Given the description of an element on the screen output the (x, y) to click on. 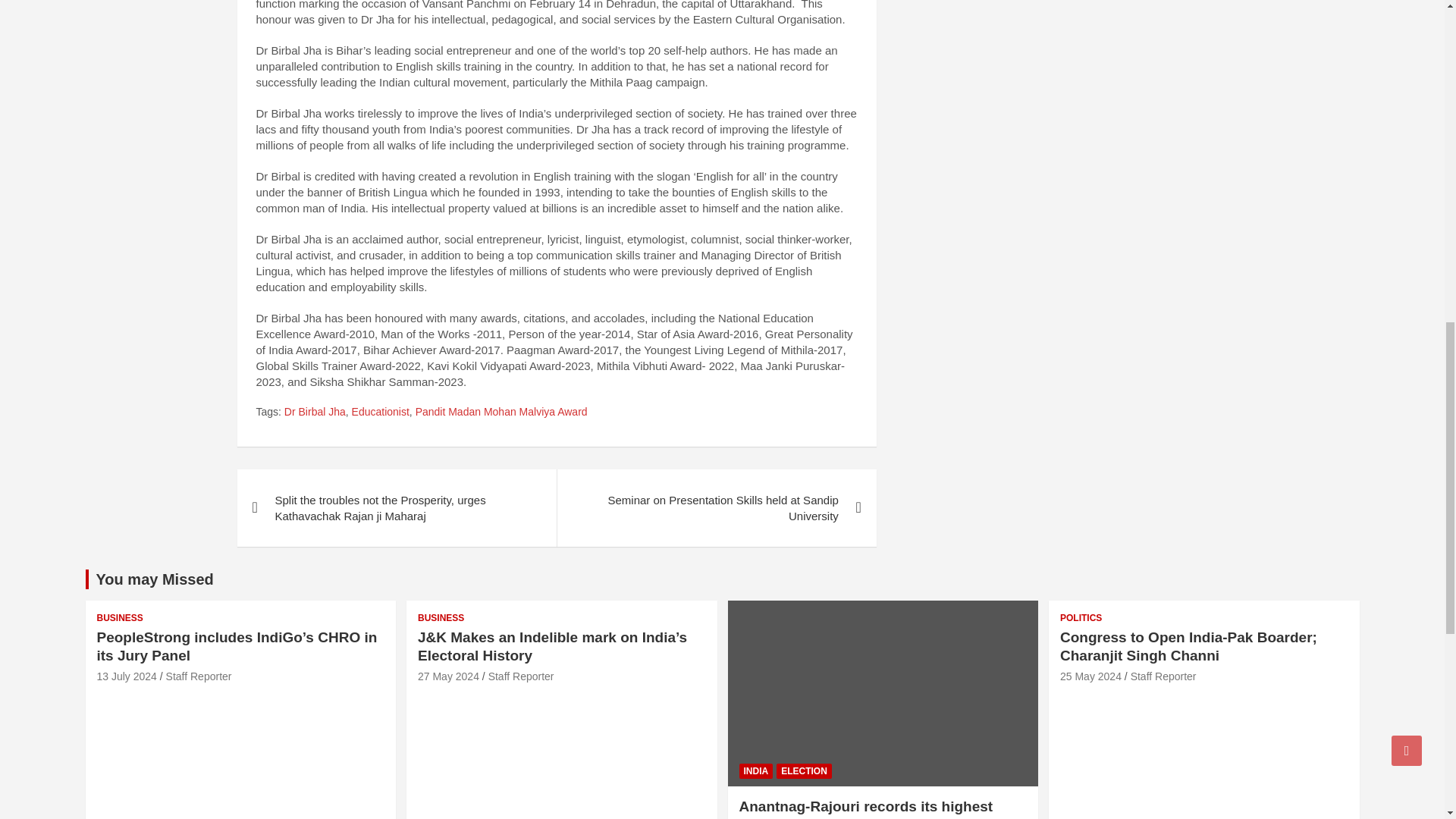
Congress to Open India-Pak Boarder; Charanjit Singh Channi (1090, 676)
Educationist (380, 412)
Pandit Madan Mohan Malviya Award (501, 412)
Dr Birbal Jha (314, 412)
Seminar on Presentation Skills held at Sandip University (716, 508)
